Given the description of an element on the screen output the (x, y) to click on. 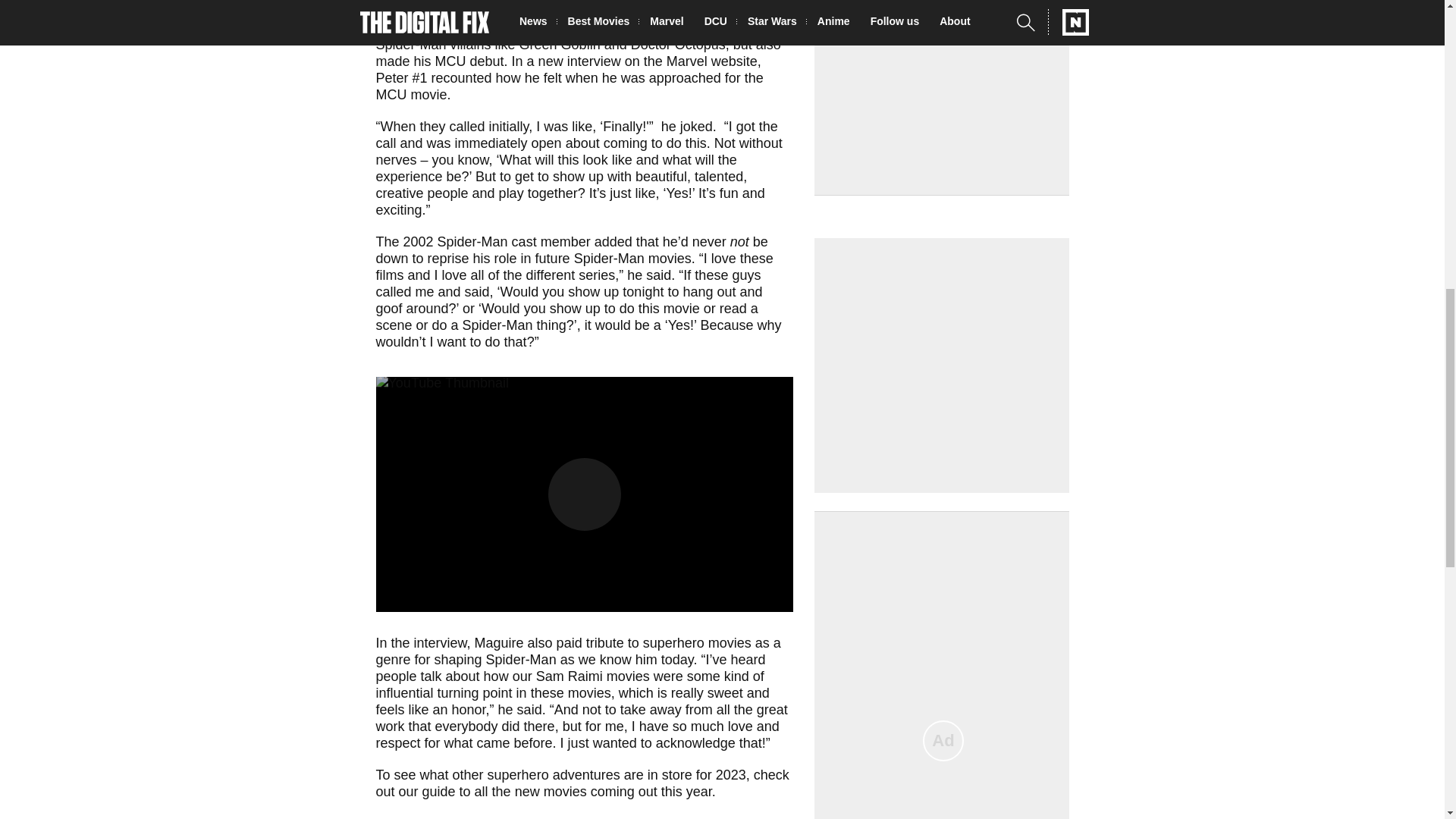
Spider-Man villains (433, 44)
Green Goblin (559, 44)
Doctor Octopus (677, 44)
